Given the description of an element on the screen output the (x, y) to click on. 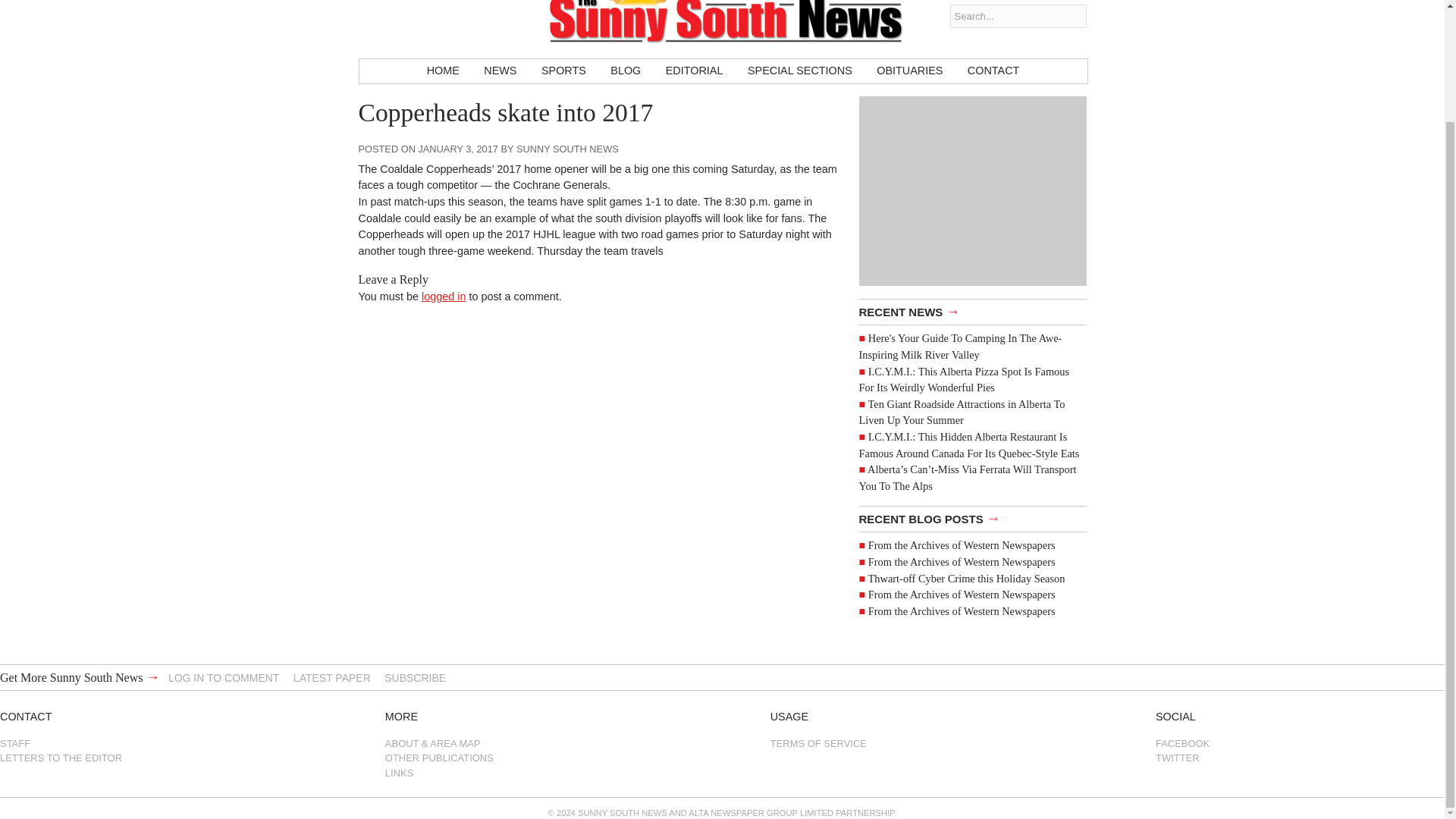
HOME (443, 70)
EDITORIAL (694, 70)
logged in (443, 296)
From the Archives of Western Newspapers (961, 562)
LOG IN TO COMMENT (223, 677)
From the Archives of Western Newspapers (961, 594)
NEWS (500, 70)
